Given the description of an element on the screen output the (x, y) to click on. 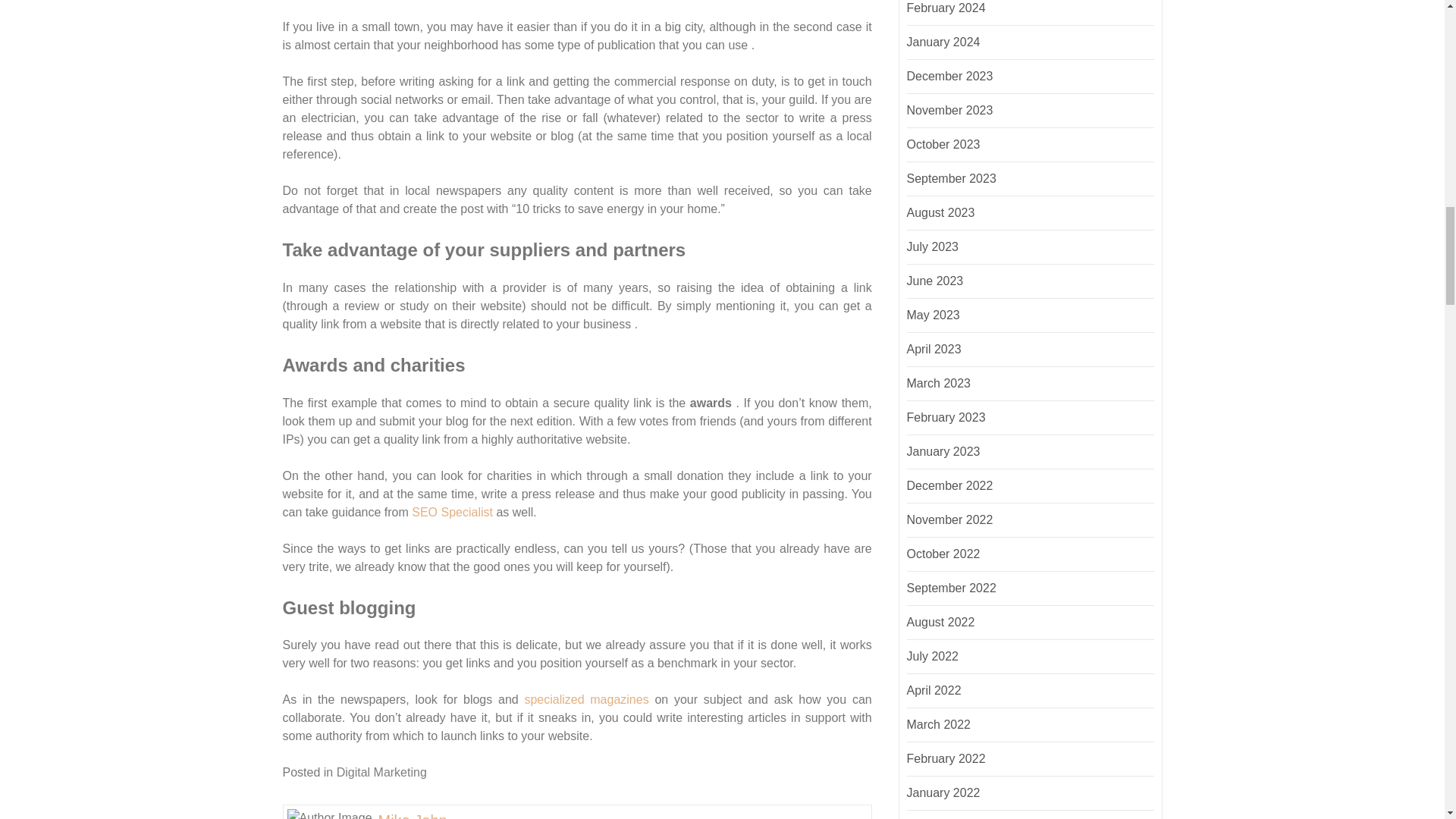
December 2023 (949, 75)
January 2024 (943, 42)
specialized magazines (585, 698)
November 2023 (949, 110)
February 2024 (946, 7)
Author Image (328, 814)
SEO Specialist (452, 511)
Digital Marketing (381, 771)
